Given the description of an element on the screen output the (x, y) to click on. 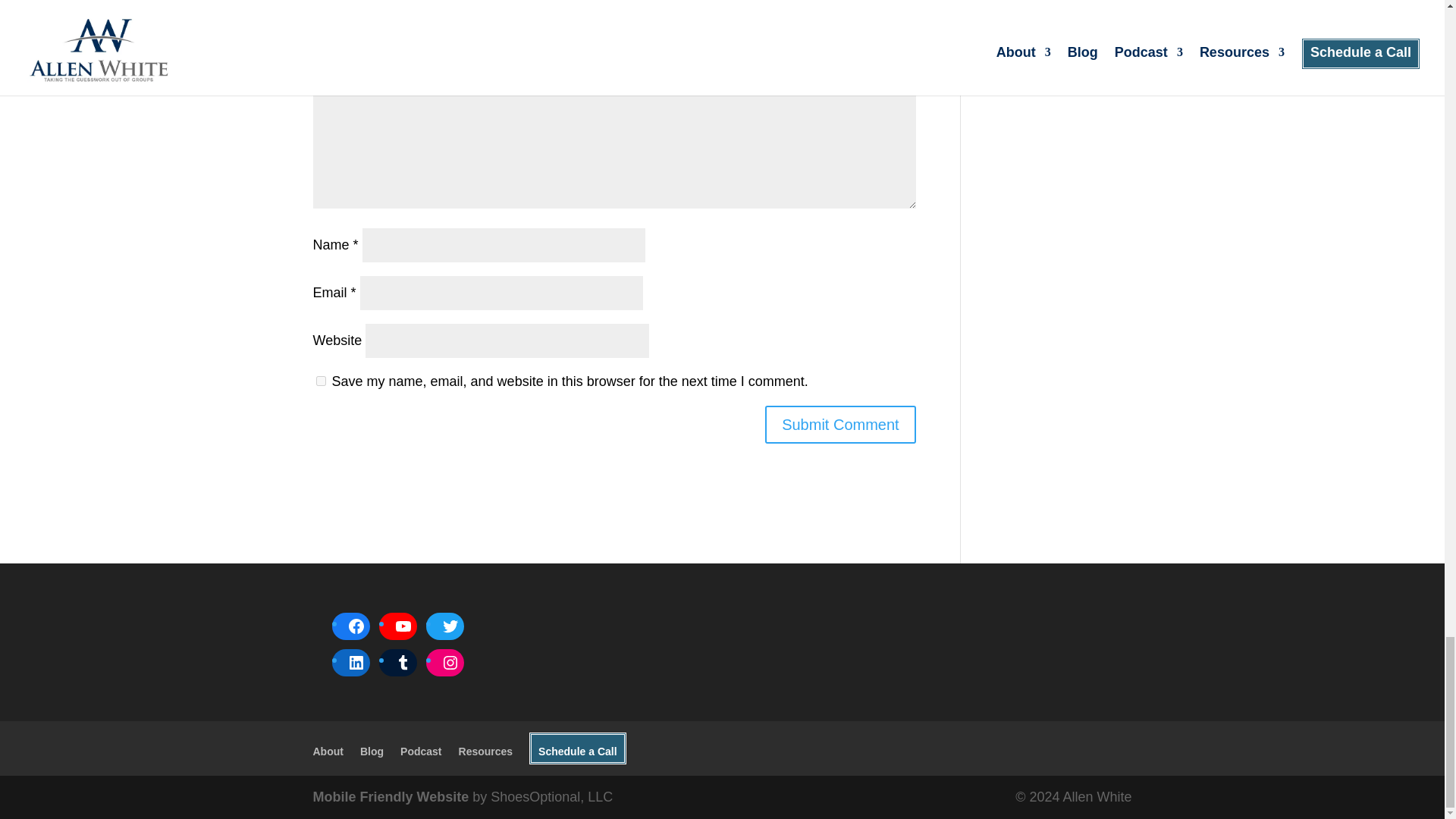
yes (319, 380)
Submit Comment (840, 424)
Submit Comment (840, 424)
